Given the description of an element on the screen output the (x, y) to click on. 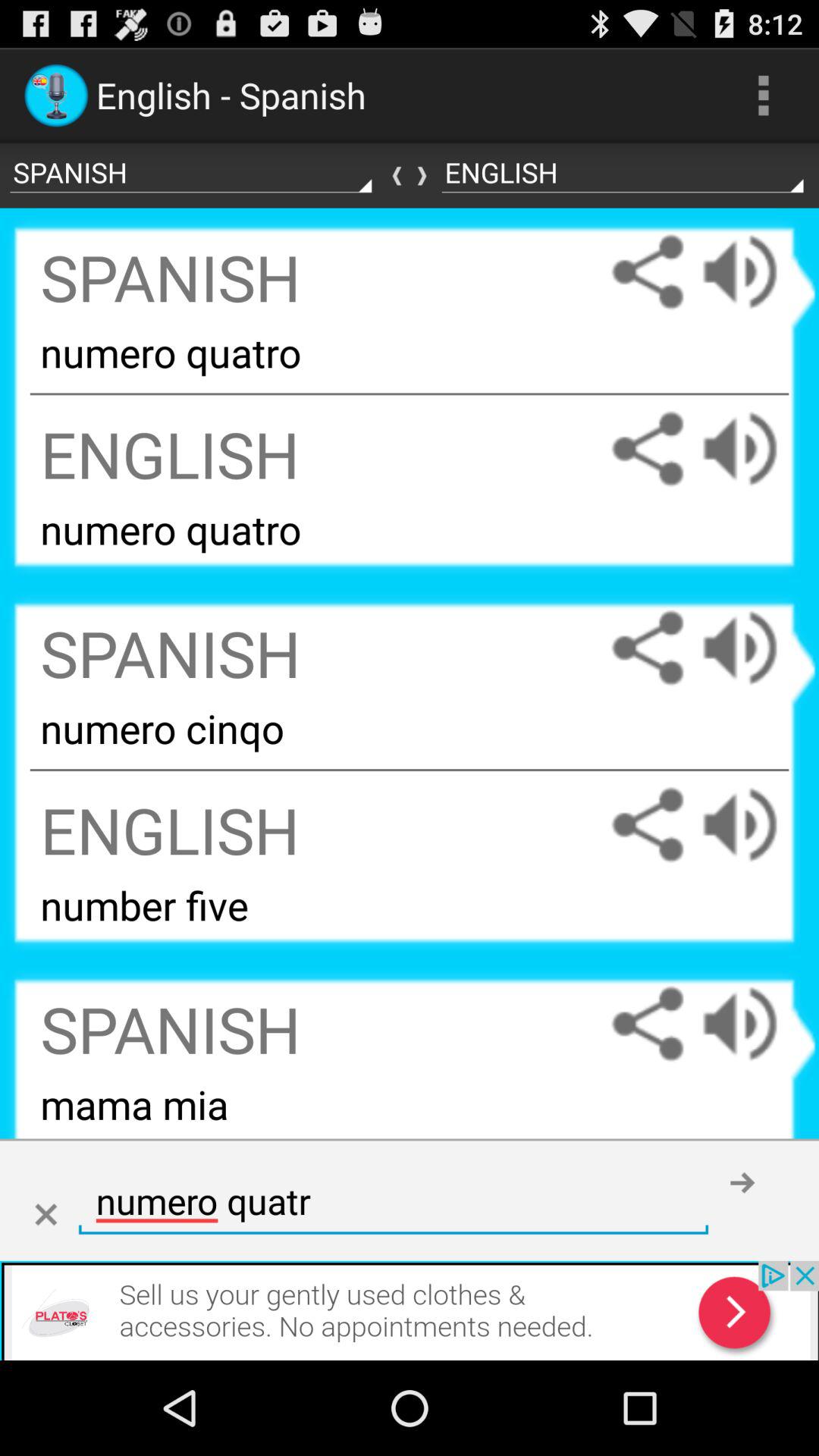
go forward submit (742, 1182)
